Given the description of an element on the screen output the (x, y) to click on. 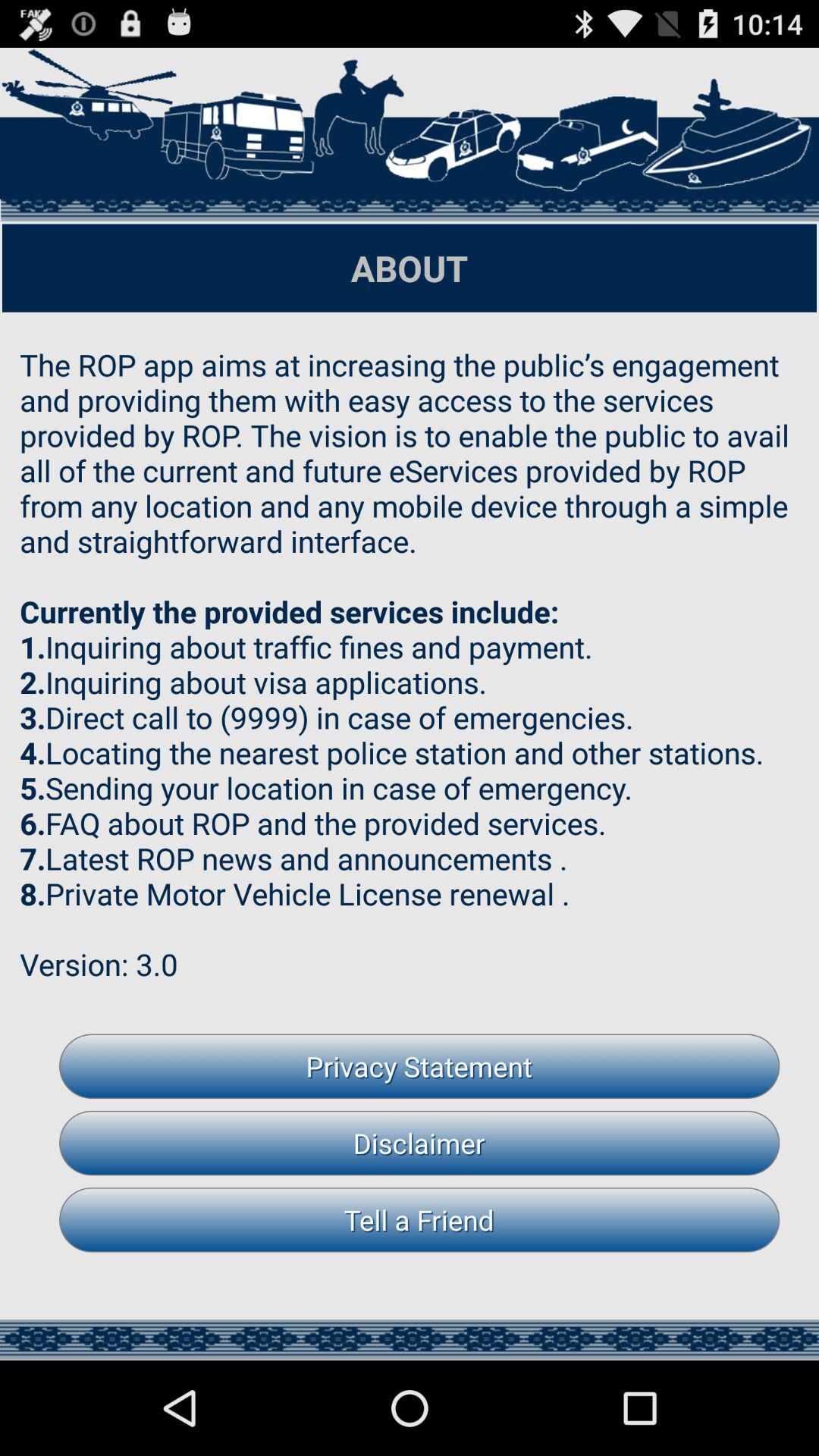
turn on disclaimer button (419, 1142)
